Given the description of an element on the screen output the (x, y) to click on. 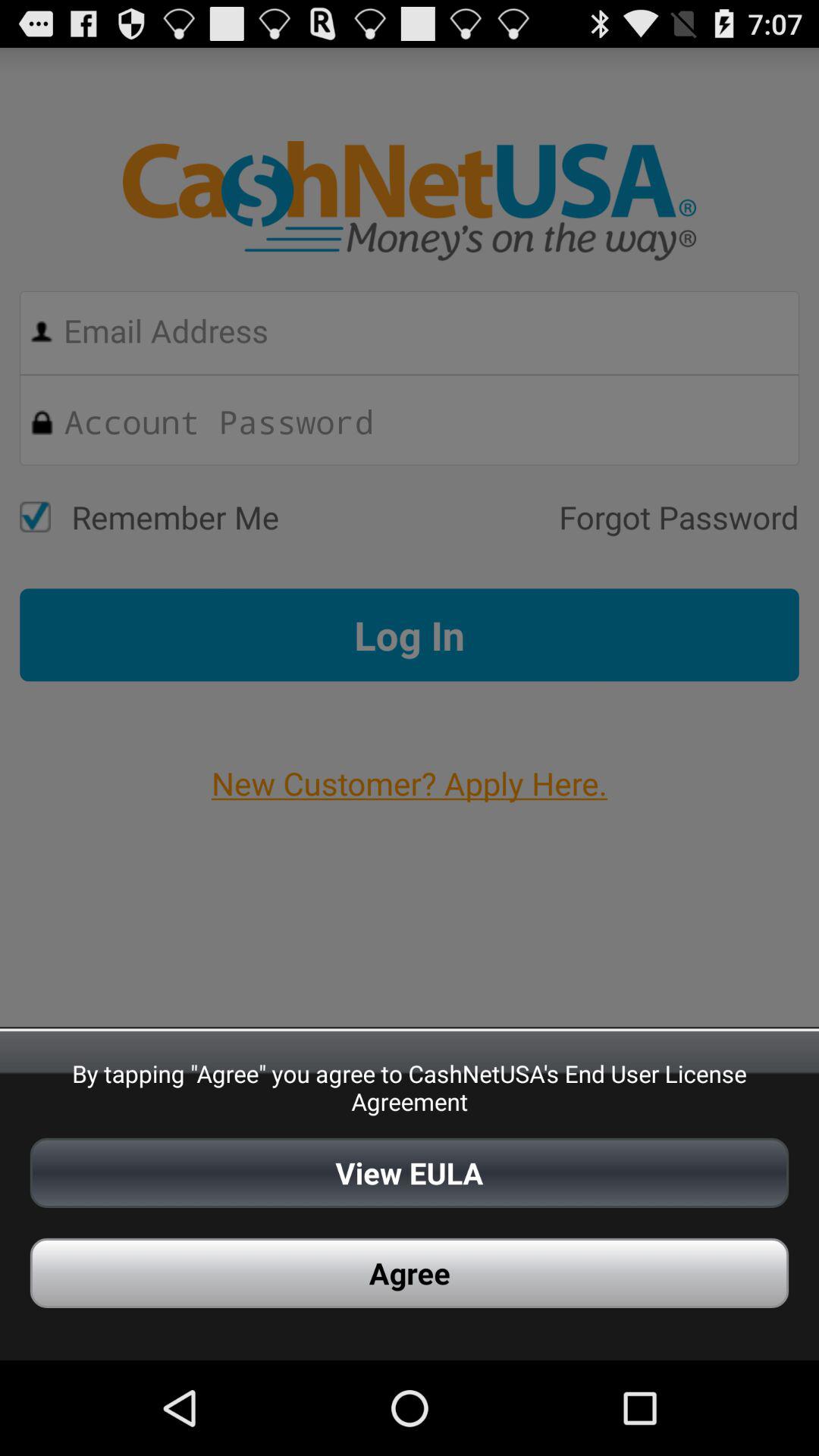
choose app above the agree app (409, 1173)
